Given the description of an element on the screen output the (x, y) to click on. 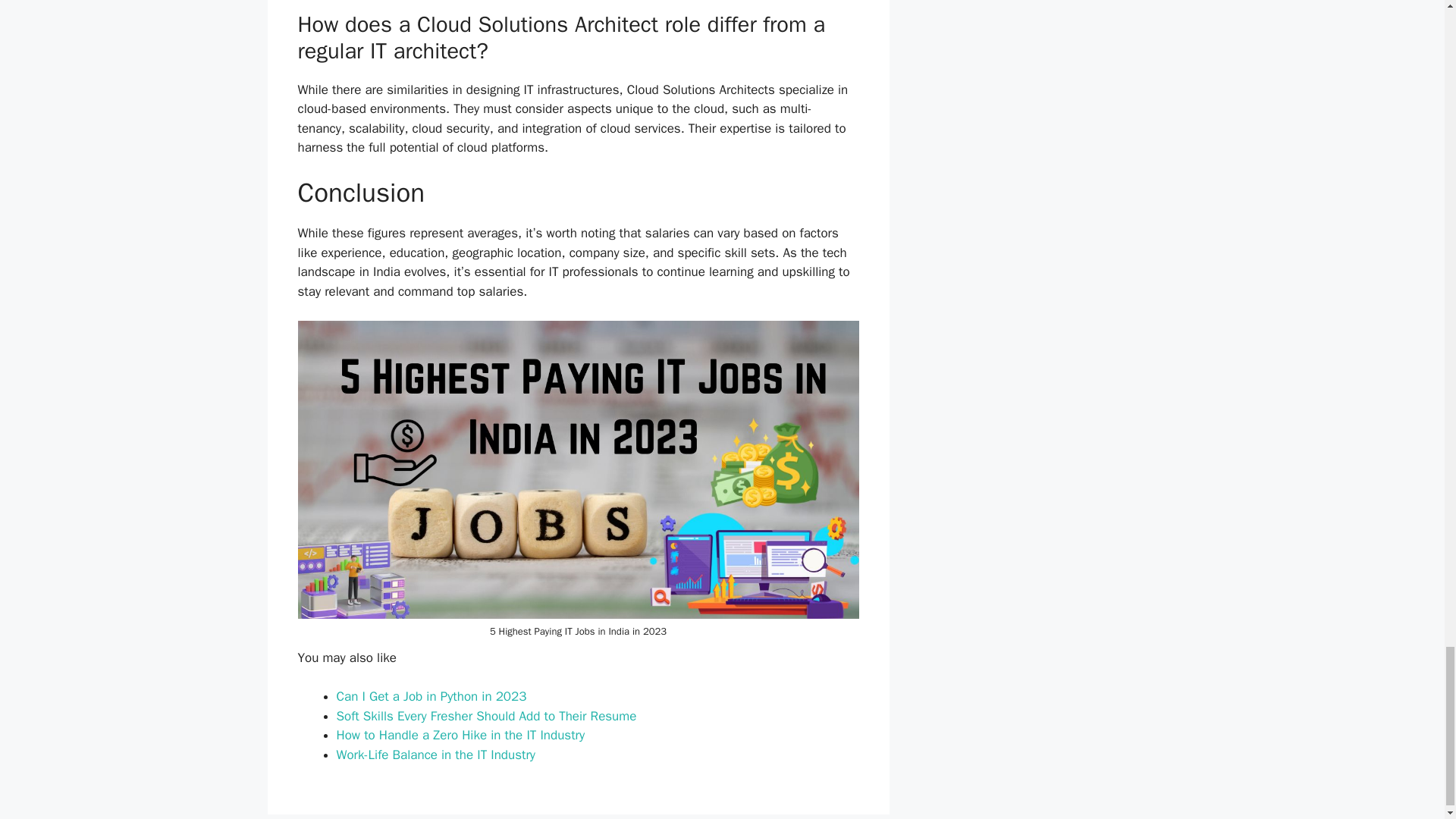
Work-Life Balance in the IT Industry (435, 754)
Can I Get a Job in Python in 2023 (431, 696)
Soft Skills Every Fresher Should Add to Their Resume (486, 715)
How to Handle a Zero Hike in the IT Industry (460, 734)
